Given the description of an element on the screen output the (x, y) to click on. 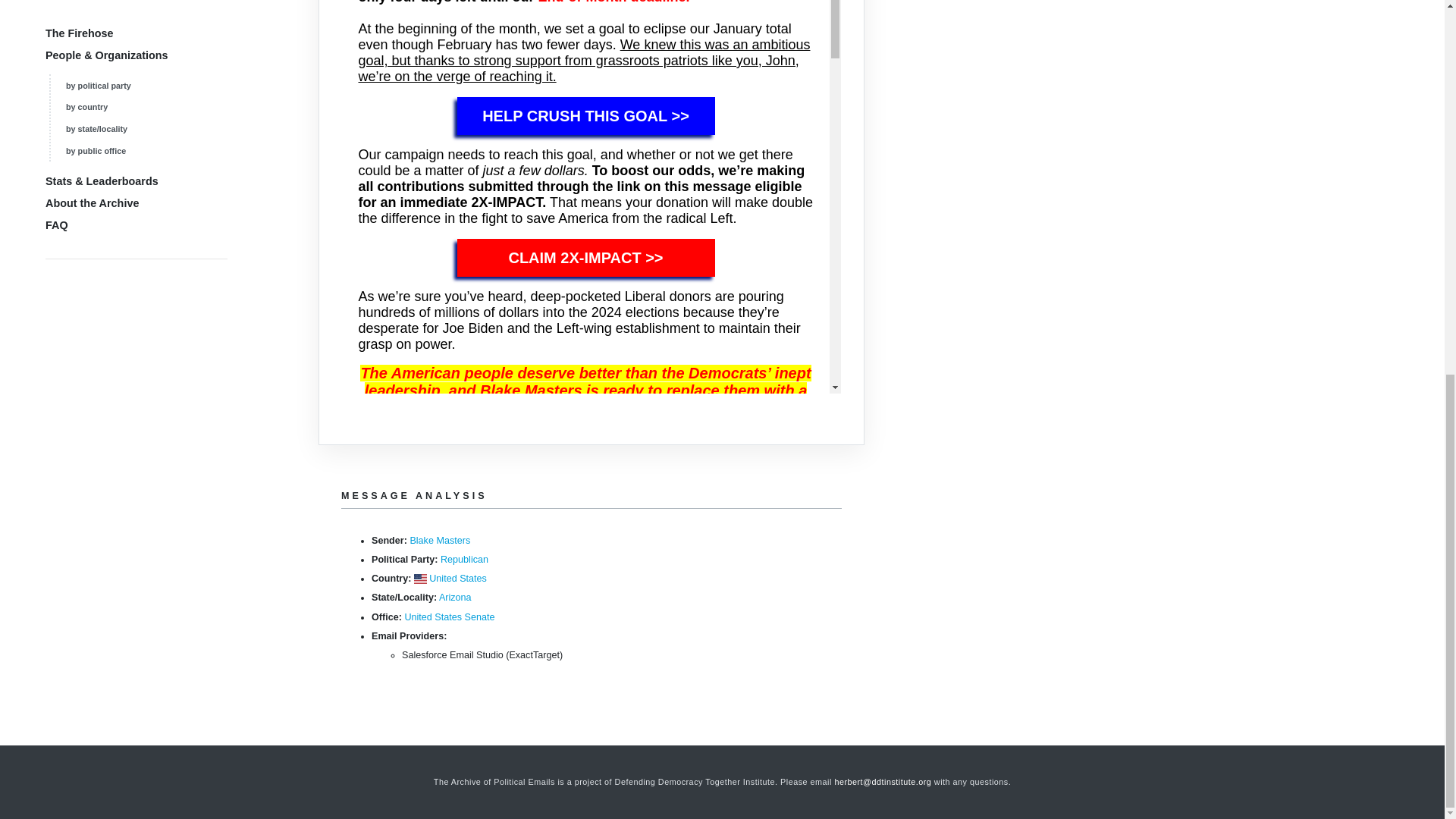
United States Senate (449, 616)
Blake Masters (439, 540)
Arizona (455, 597)
United States (457, 578)
Republican (464, 559)
